Given the description of an element on the screen output the (x, y) to click on. 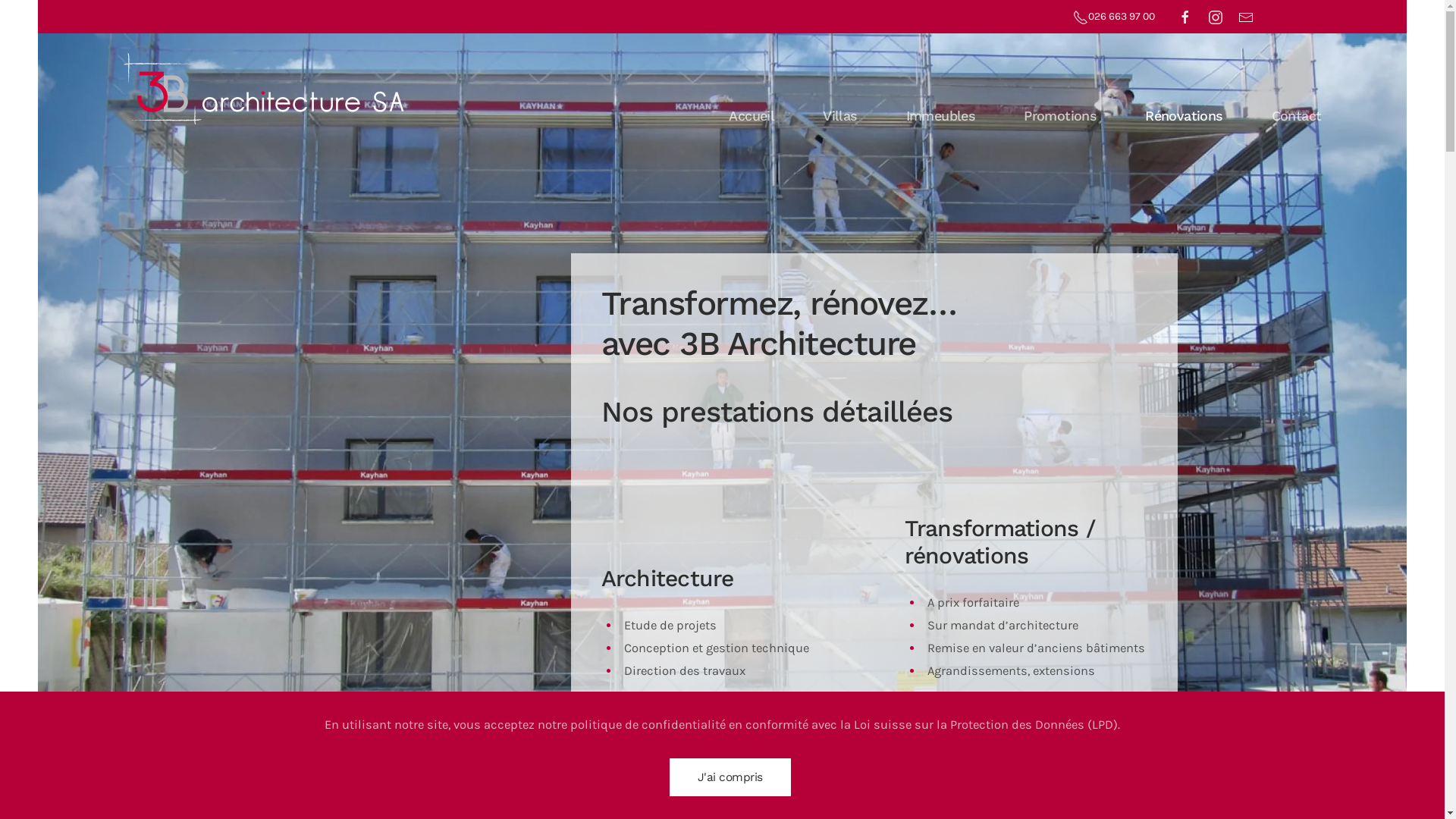
Promotions Element type: text (1060, 90)
Immeubles Element type: text (940, 90)
Villas Element type: text (839, 90)
J'ai compris Element type: text (729, 777)
Accueil Element type: text (751, 90)
Contact Element type: text (1296, 90)
026 663 97 00 Element type: text (1113, 15)
